Given the description of an element on the screen output the (x, y) to click on. 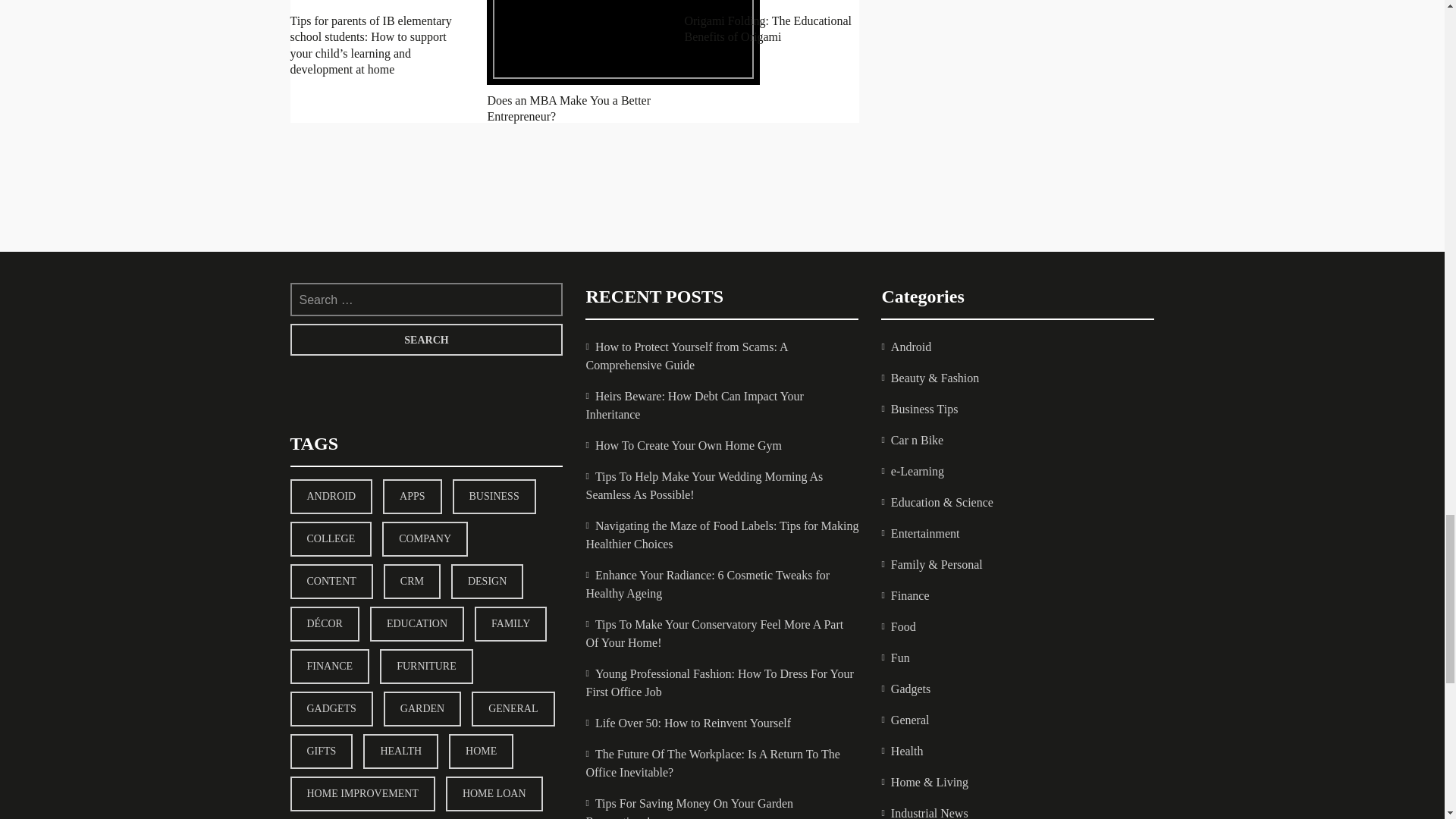
Origami Folding: The Educational Benefits of Origami (767, 28)
Search (425, 339)
Search (425, 339)
Does an MBA Make You a Better Entrepreneur? (568, 108)
